Given the description of an element on the screen output the (x, y) to click on. 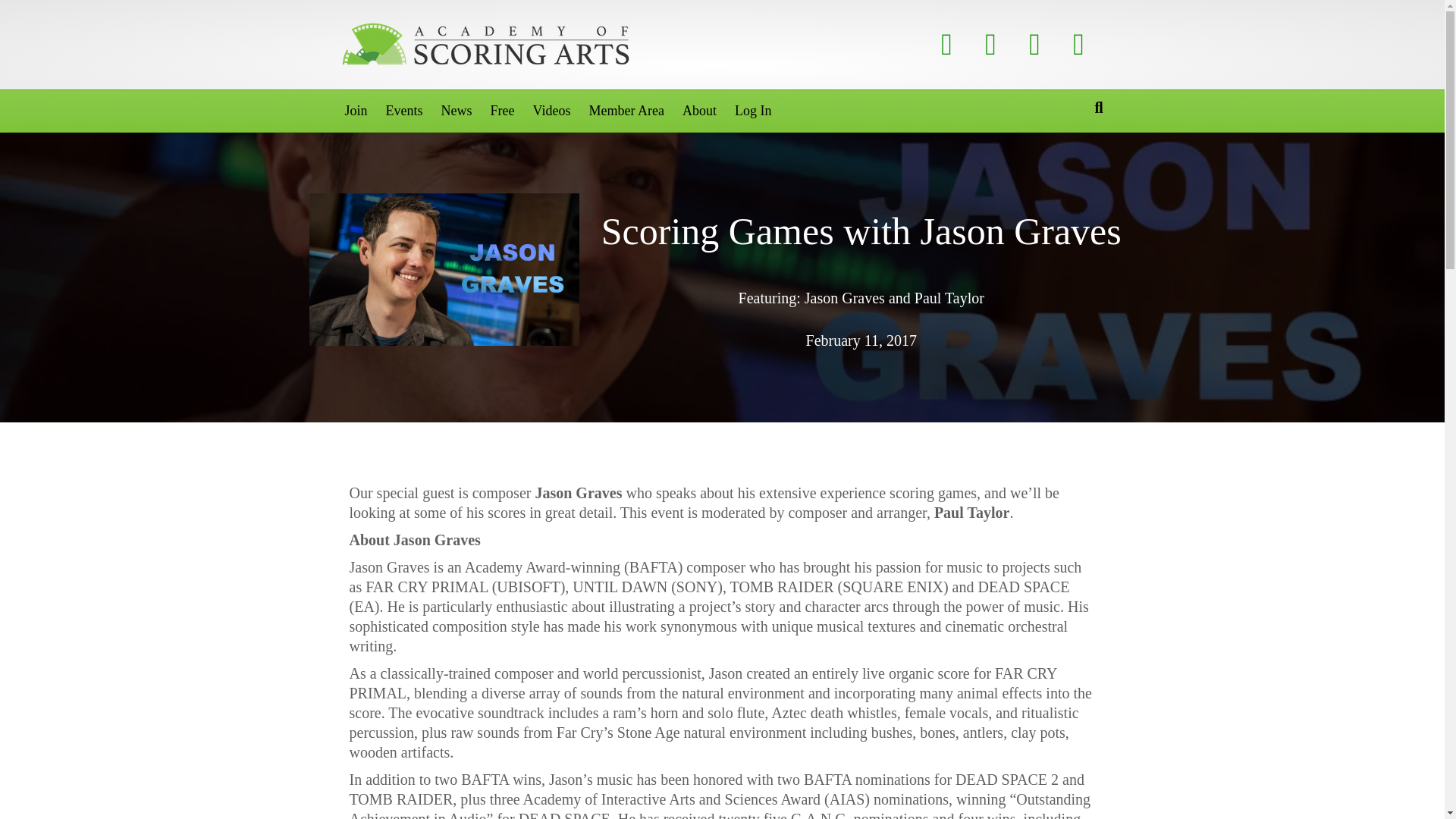
Member Area (625, 110)
Join (354, 110)
Videos (550, 110)
Jason Graves (443, 269)
Events (404, 110)
Facebook (947, 44)
Youtube (1035, 44)
Twitter (991, 44)
Free (502, 110)
Instagram (1078, 44)
News (456, 110)
About (698, 110)
